Given the description of an element on the screen output the (x, y) to click on. 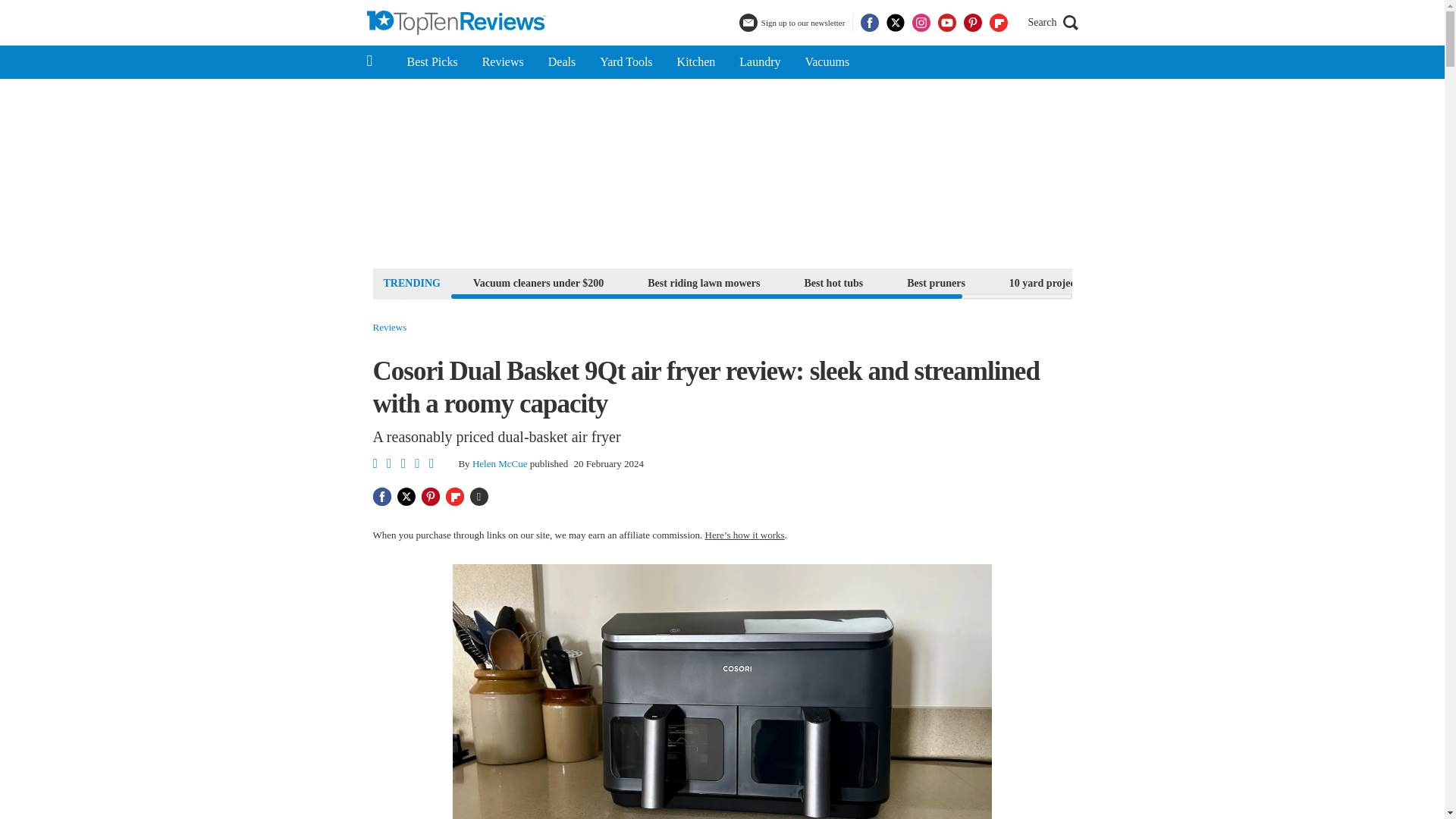
Yard Tools (625, 61)
10 yard projects to complete in August (1096, 282)
Best Picks (431, 61)
Reviews (502, 61)
Best riding lawn mowers (703, 282)
Helen McCue (499, 463)
Best hot tubs (832, 282)
Deals (561, 61)
Sign up to our newsletter (793, 22)
Reviews (389, 327)
Vacuums (826, 61)
Kitchen (696, 61)
Laundry (759, 61)
Best pruners (936, 282)
